Given the description of an element on the screen output the (x, y) to click on. 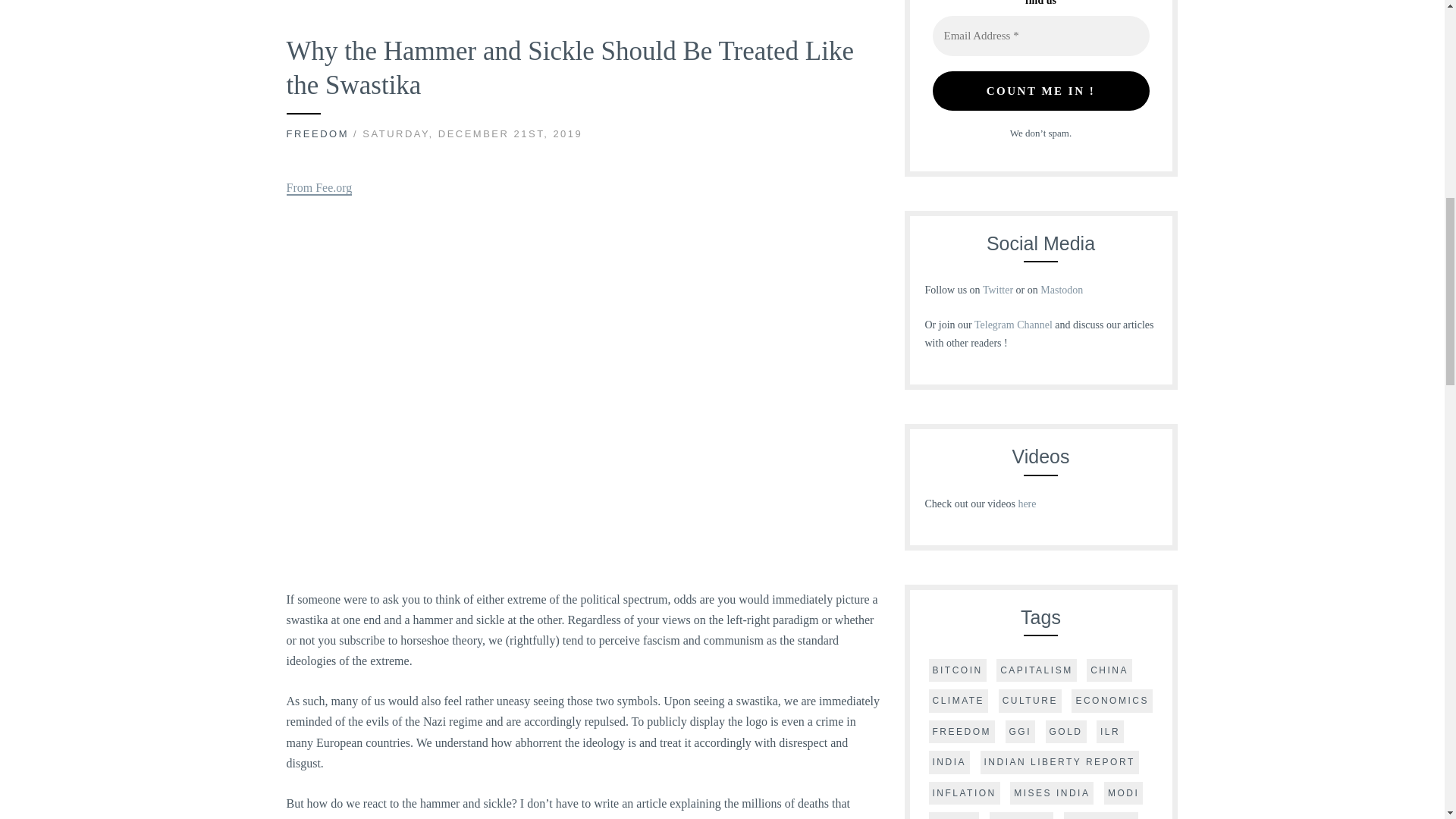
Email Address (1041, 35)
FREEDOM (317, 133)
Count me in ! (1041, 91)
From Fee.org (319, 187)
